Given the description of an element on the screen output the (x, y) to click on. 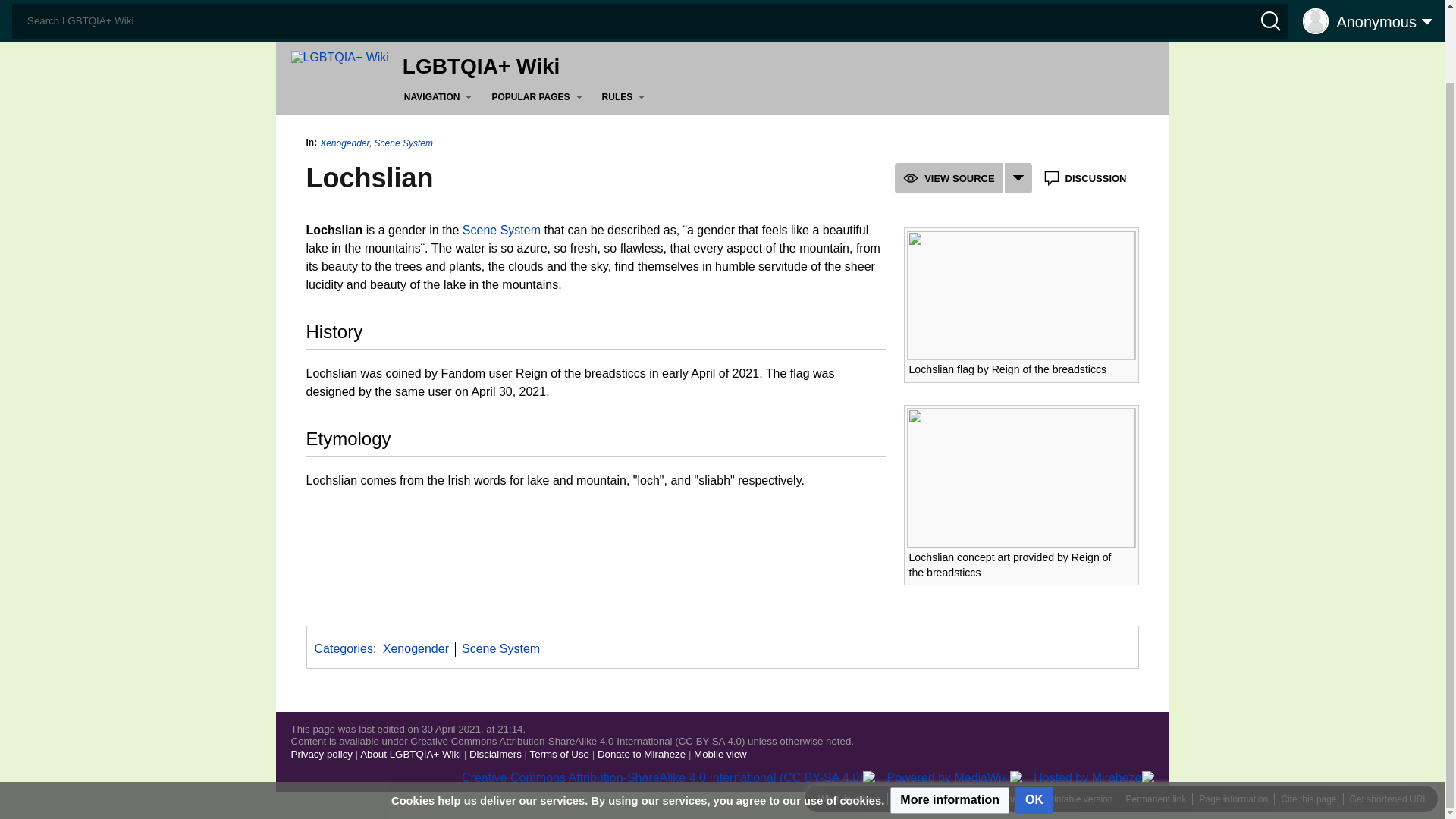
Category:Xenogender (415, 648)
NAVIGATION (441, 96)
Visit the main page (339, 56)
Category:Scene System (500, 648)
RULES (626, 96)
Special:Categories (343, 648)
POPULAR PAGES (540, 96)
Scene System (501, 229)
